Given the description of an element on the screen output the (x, y) to click on. 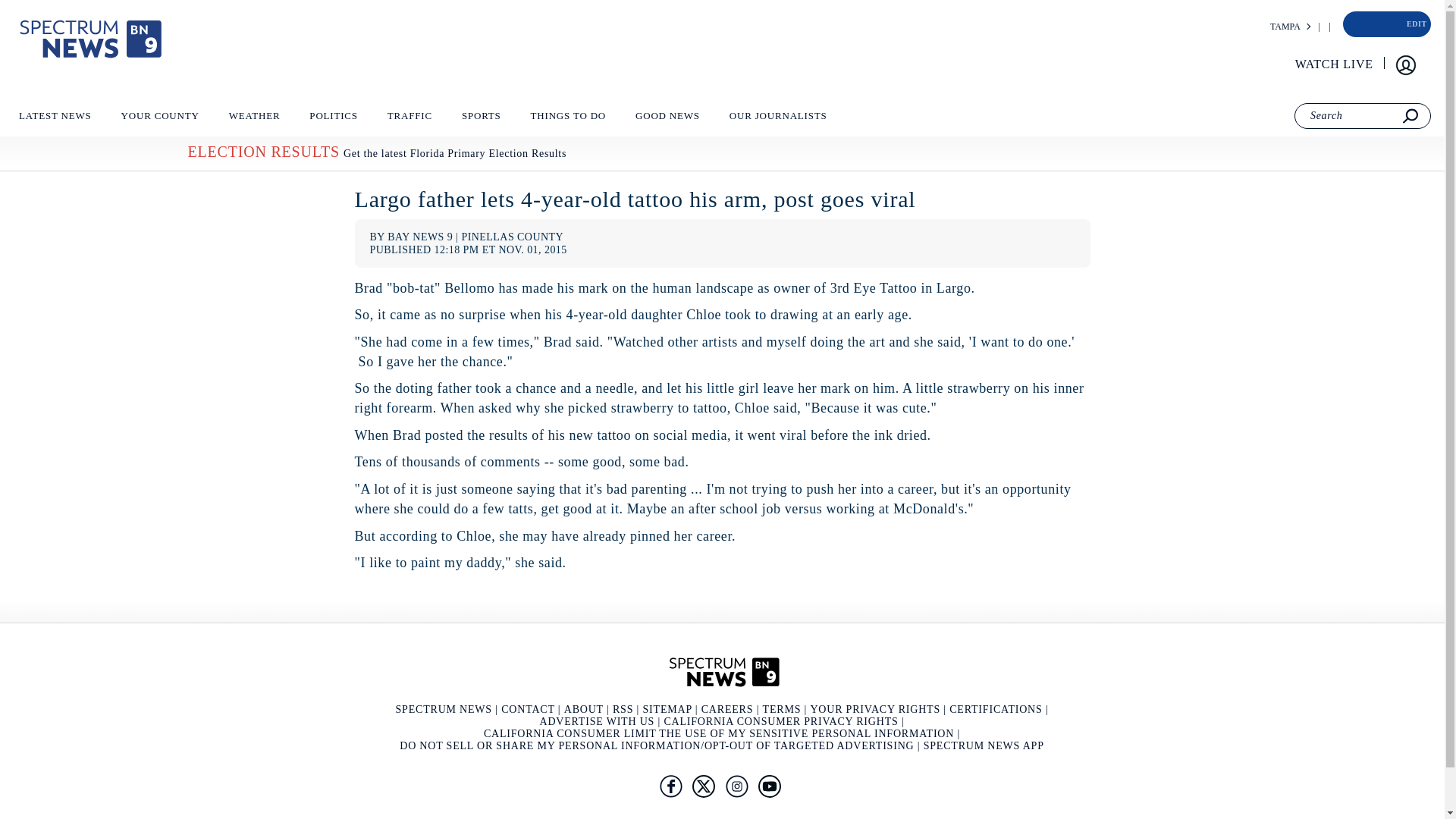
YOUR COUNTY (160, 119)
WATCH LIVE (1334, 64)
LATEST NEWS (55, 119)
TAMPA (1284, 26)
